Given the description of an element on the screen output the (x, y) to click on. 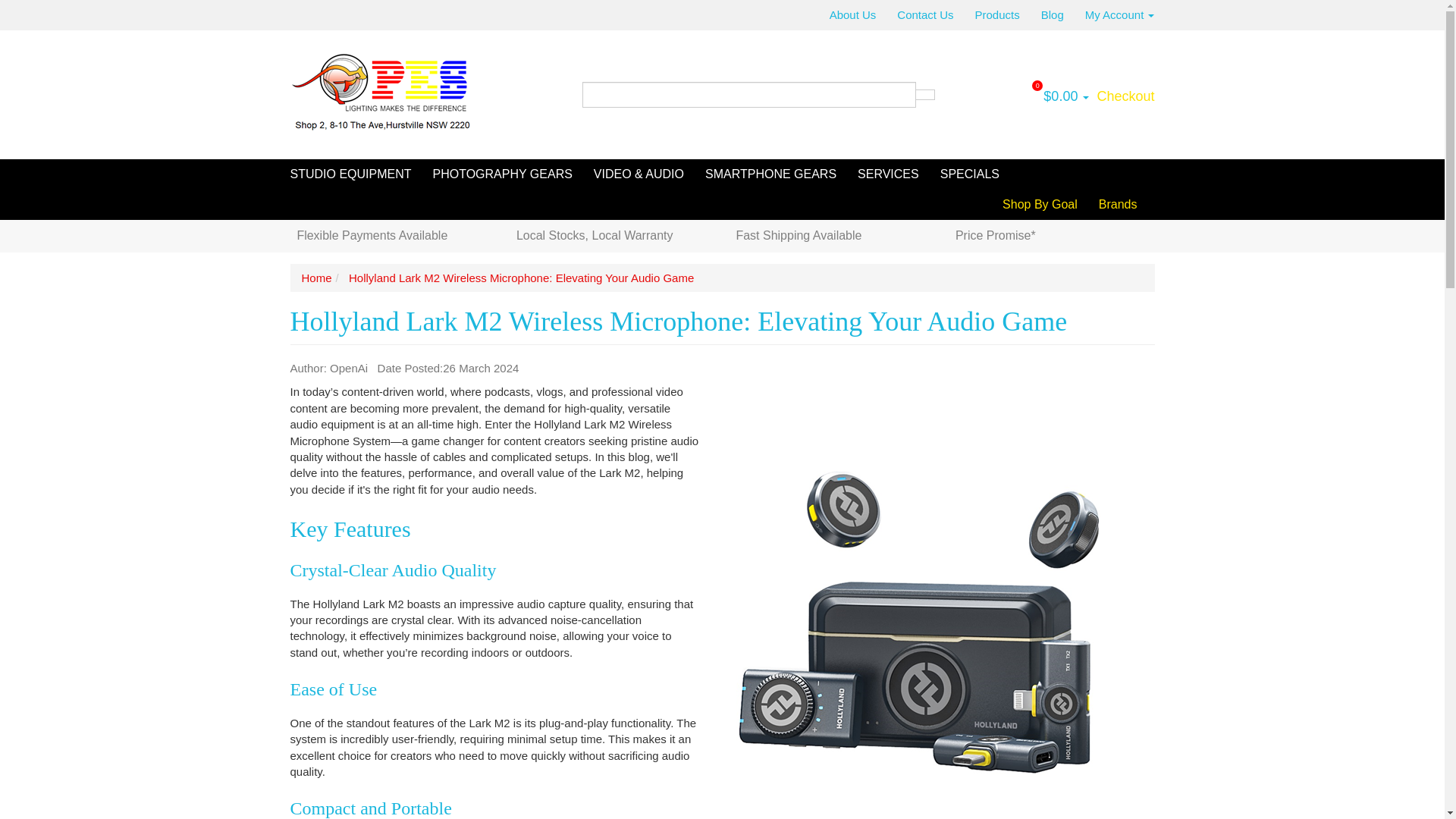
STUDIO EQUIPMENT (355, 173)
Blog (1052, 15)
About Us (857, 15)
My Account (1114, 15)
Search (924, 94)
Checkout (1123, 96)
Products (996, 15)
Contact Us (924, 15)
